Given the description of an element on the screen output the (x, y) to click on. 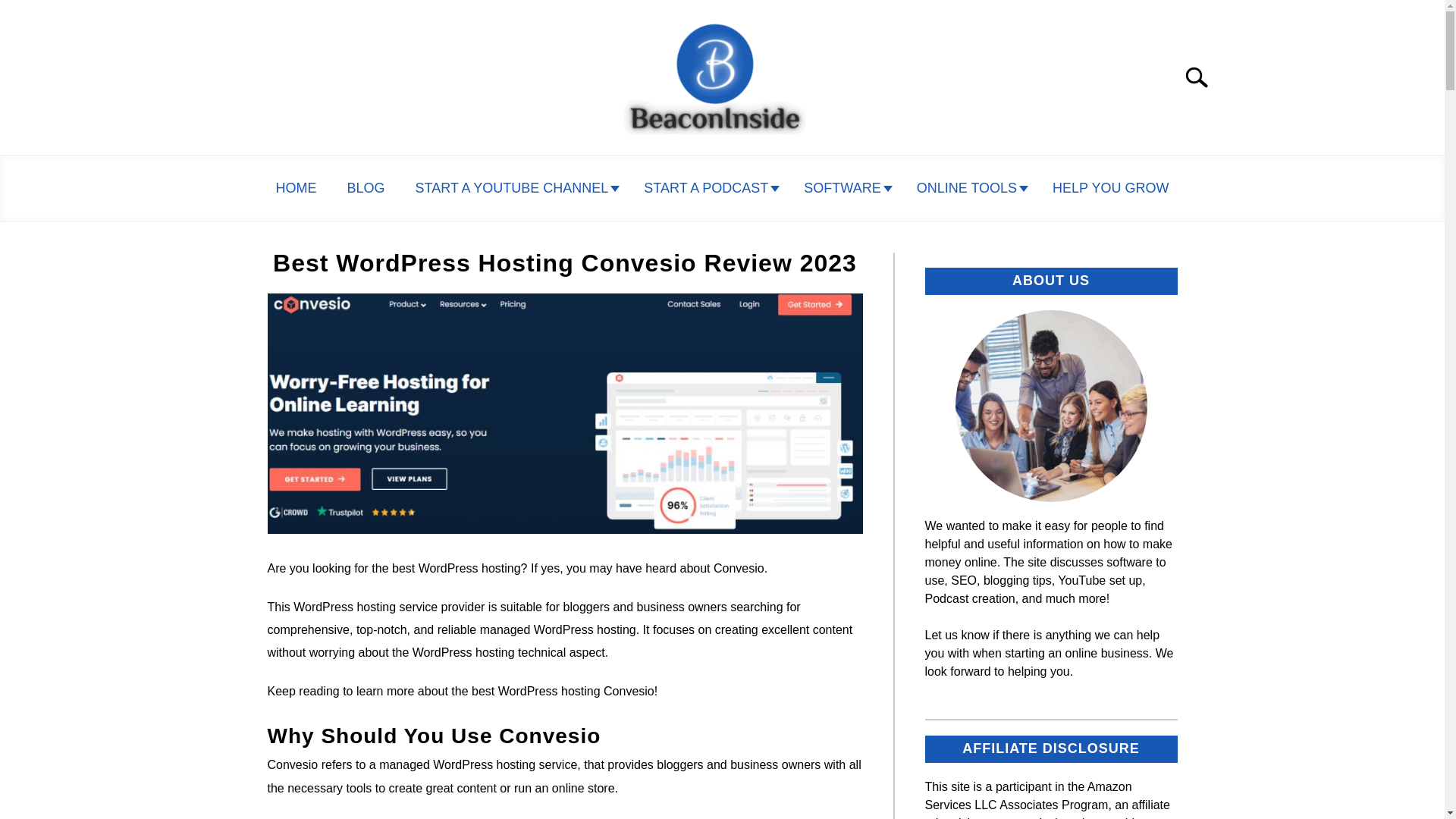
ONLINE TOOLS (968, 188)
HELP YOU GROW (1109, 188)
START A PODCAST (708, 188)
Search (1203, 77)
SOFTWARE (845, 188)
HOME (295, 188)
START A YOUTUBE CHANNEL (514, 188)
BLOG (365, 188)
